Given the description of an element on the screen output the (x, y) to click on. 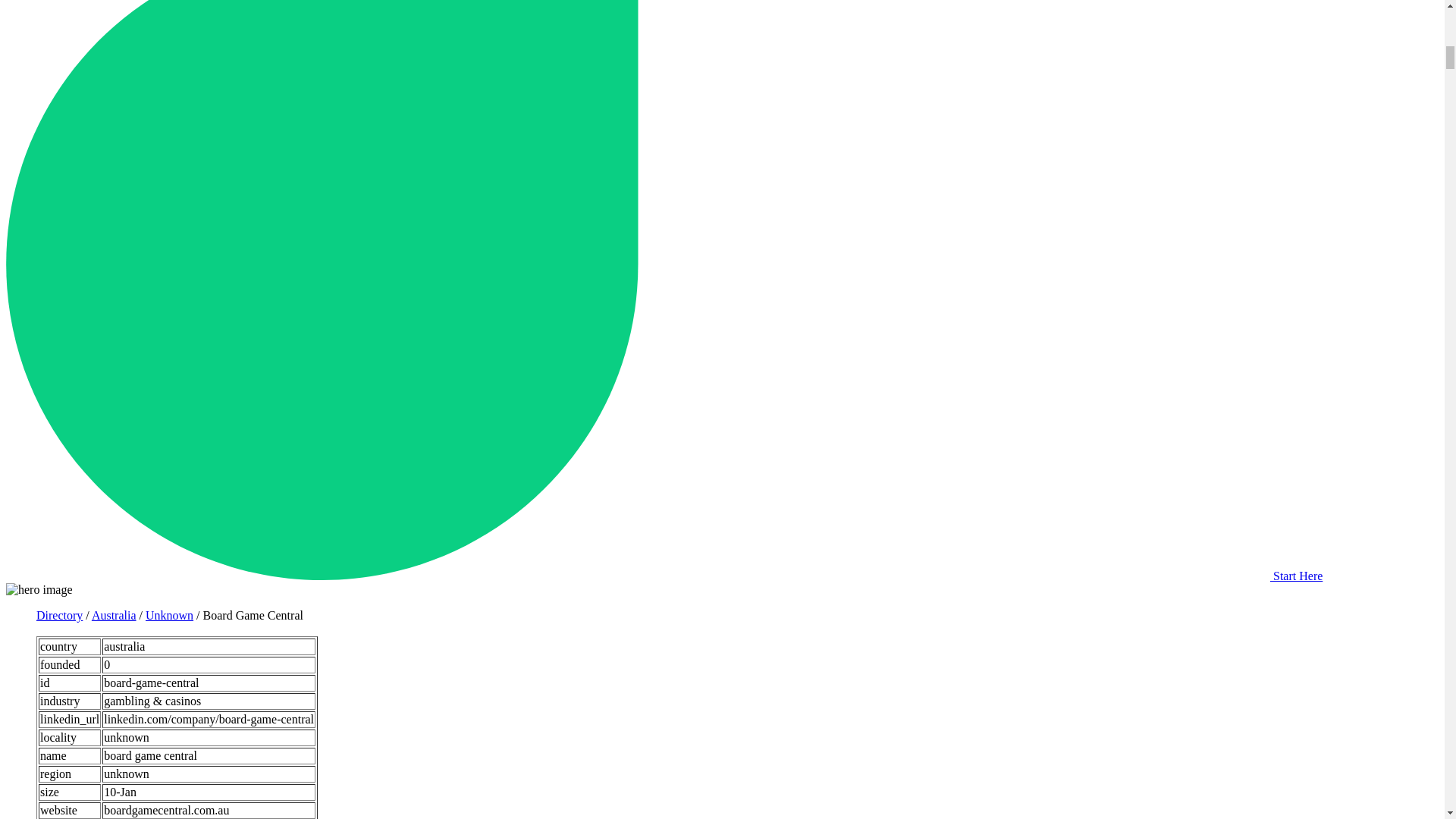
Directory (59, 615)
Australia (113, 615)
Unknown (169, 615)
